Given the description of an element on the screen output the (x, y) to click on. 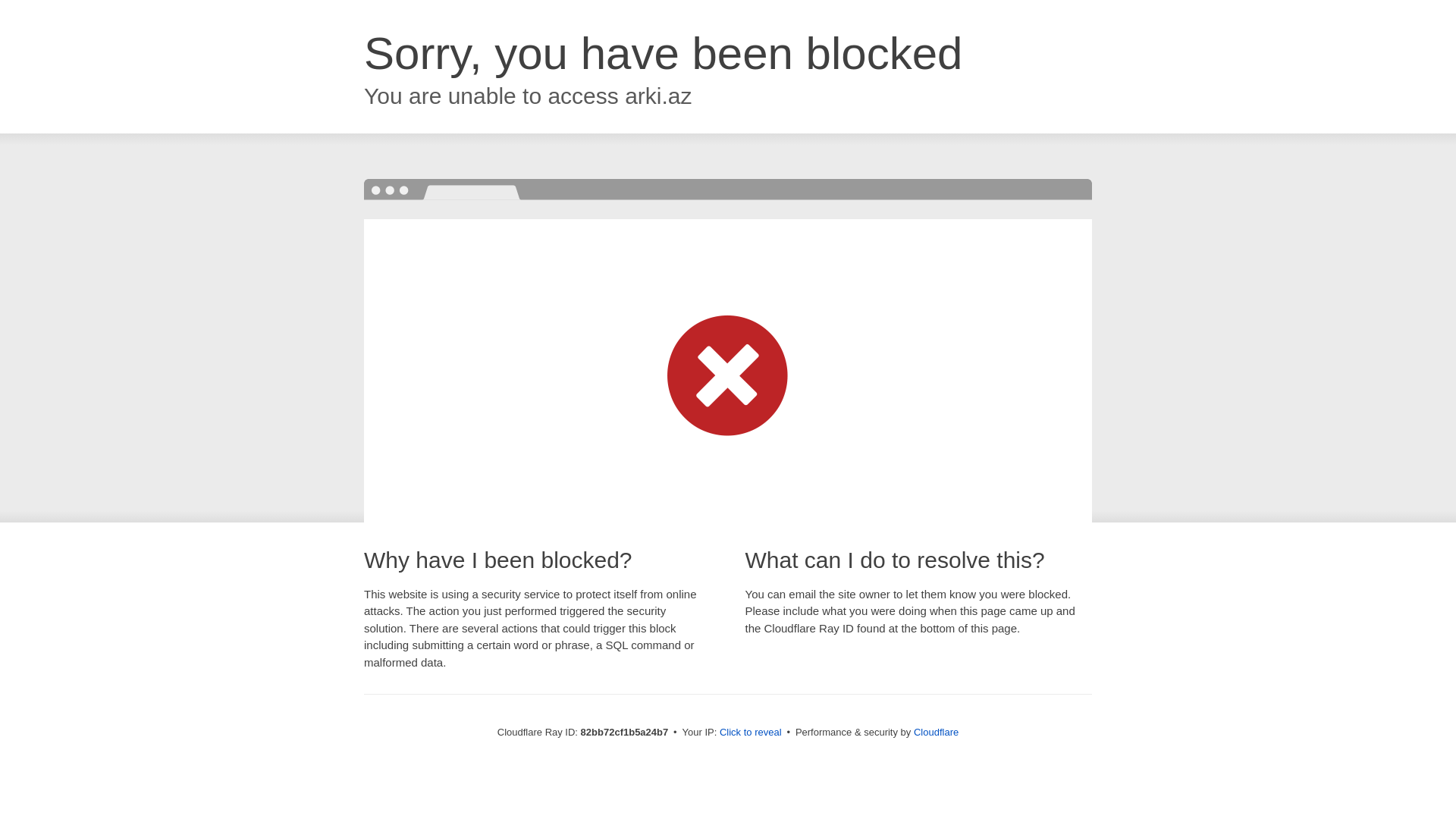
Cloudflare Element type: text (935, 731)
Click to reveal Element type: text (750, 732)
